Given the description of an element on the screen output the (x, y) to click on. 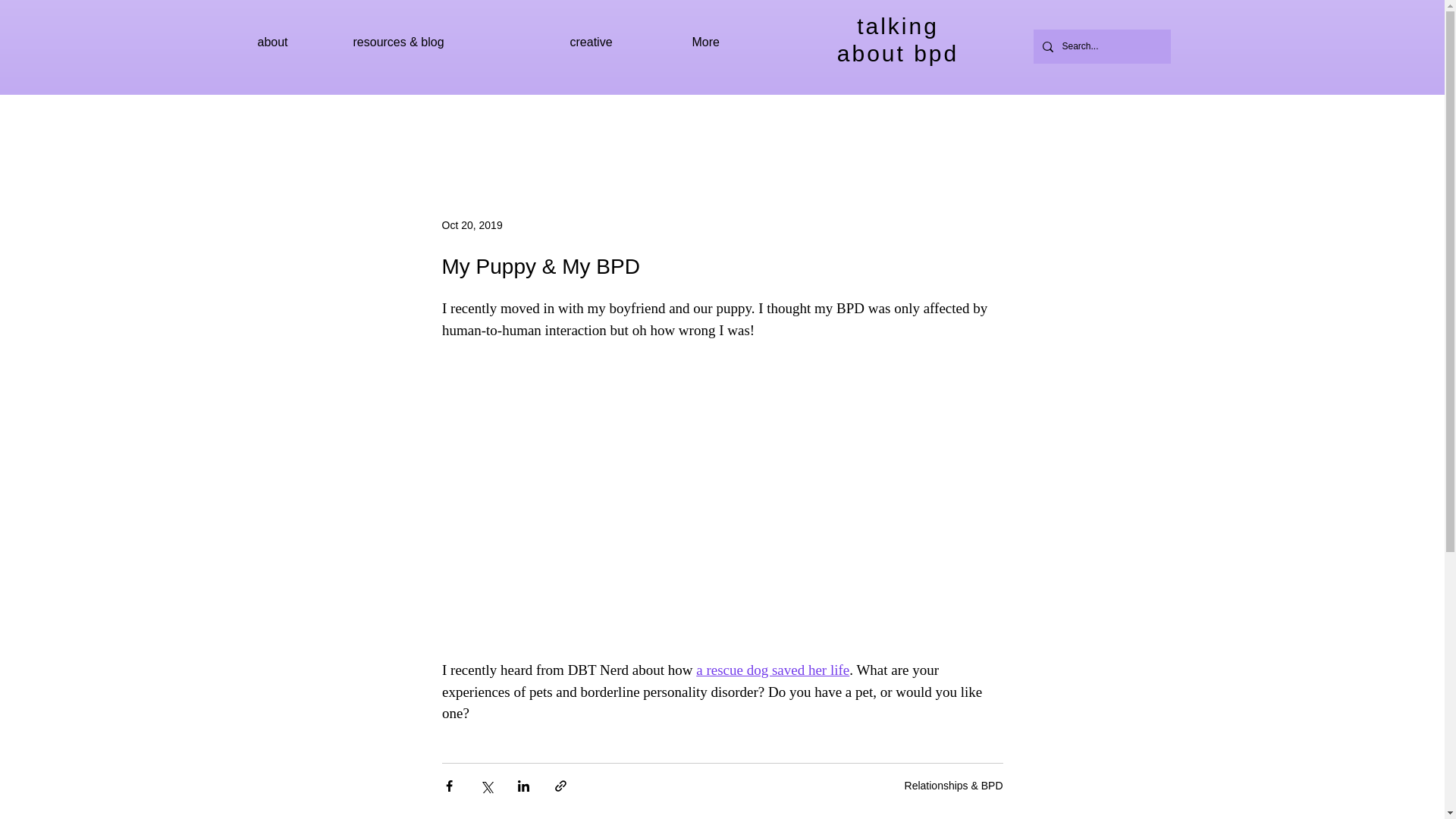
All Posts (371, 124)
Healthcare (878, 124)
DBT (522, 124)
a rescue dog saved her life (771, 669)
Oct 20, 2019 (471, 224)
Stigma (712, 124)
Coping Tips (452, 124)
Pregnancy (961, 124)
about (897, 39)
creative (293, 42)
Guest posts (618, 42)
